Given the description of an element on the screen output the (x, y) to click on. 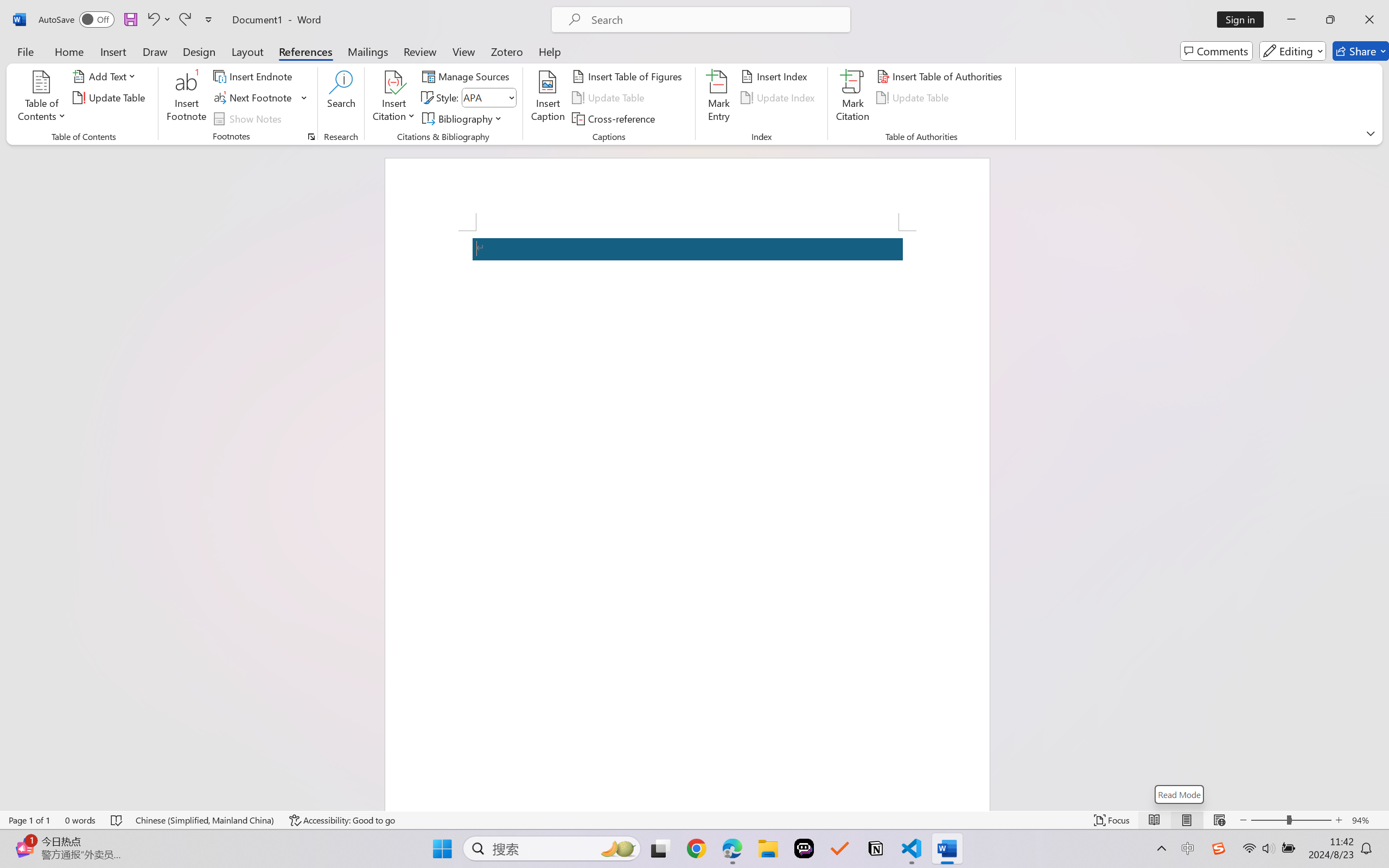
Style (488, 97)
Bibliography (463, 118)
Redo Apply Quick Style (184, 19)
Update Table (914, 97)
